Given the description of an element on the screen output the (x, y) to click on. 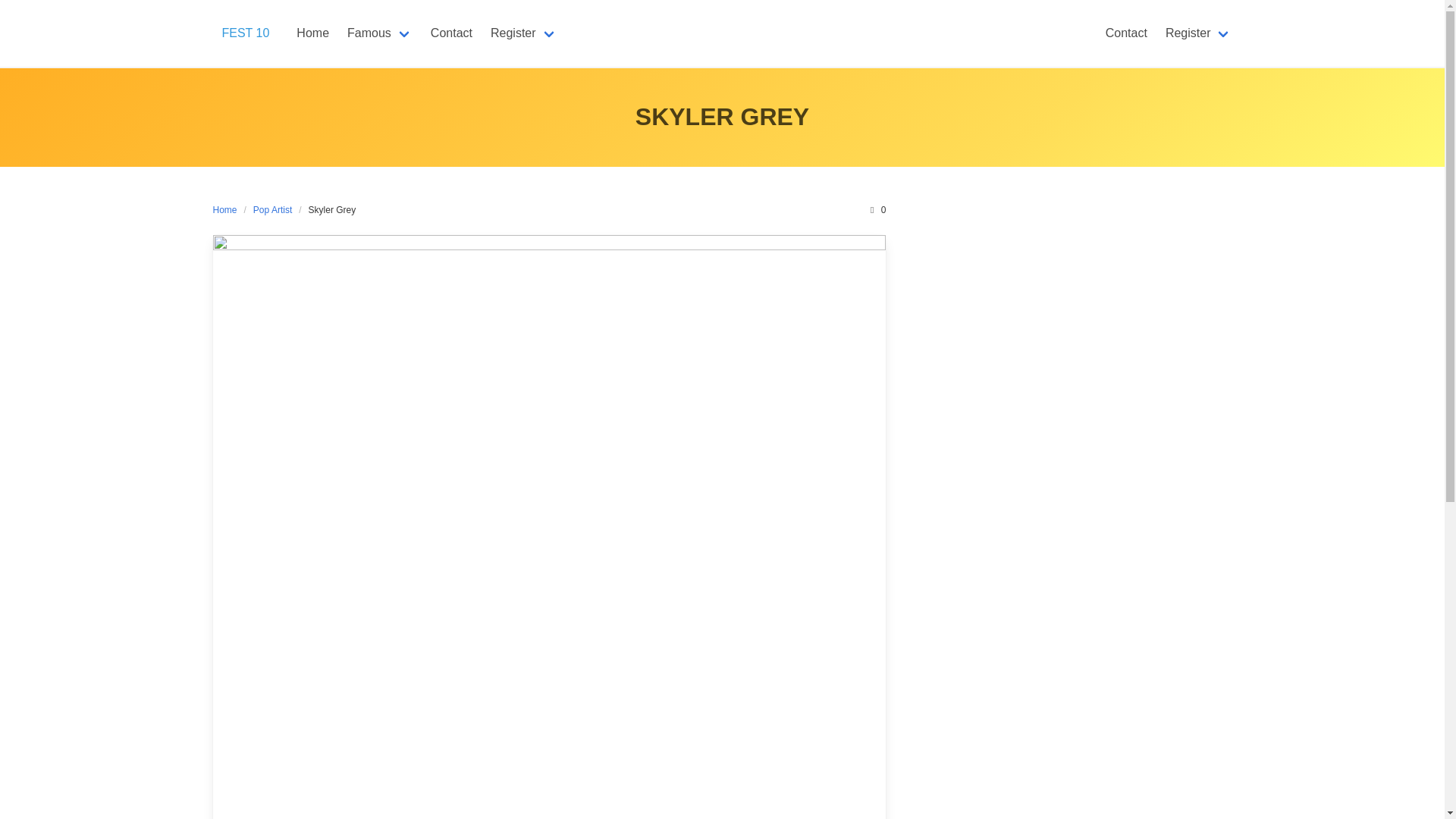
Register (1198, 33)
Home (311, 33)
Contact (1126, 33)
Register (523, 33)
Pop Artist (272, 210)
Skyler Grey (331, 210)
FEST 10 (244, 33)
Register (1198, 33)
0 (876, 210)
Famous (379, 33)
Famous (379, 33)
Home (227, 210)
Register (523, 33)
Home (311, 33)
FEST 10 (244, 33)
